Given the description of an element on the screen output the (x, y) to click on. 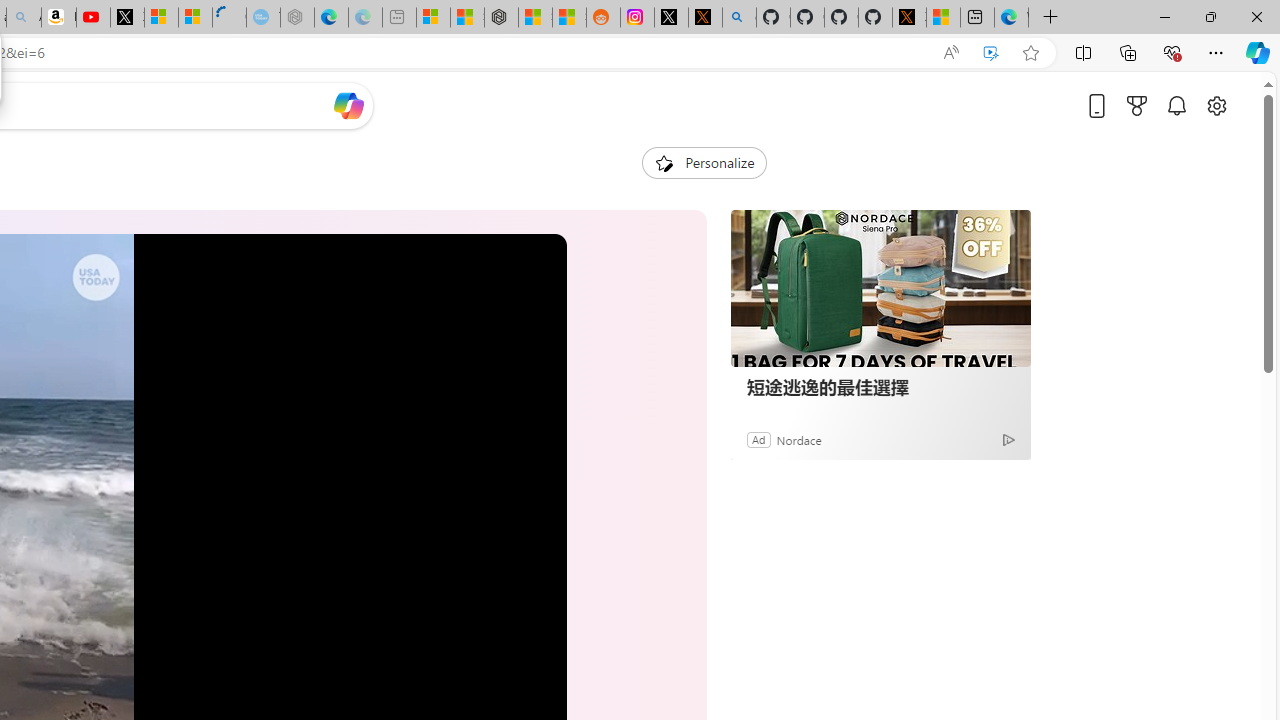
Open settings (1216, 105)
github - Search (739, 17)
Nordace - Duffels (501, 17)
Log in to X / X (671, 17)
